Given the description of an element on the screen output the (x, y) to click on. 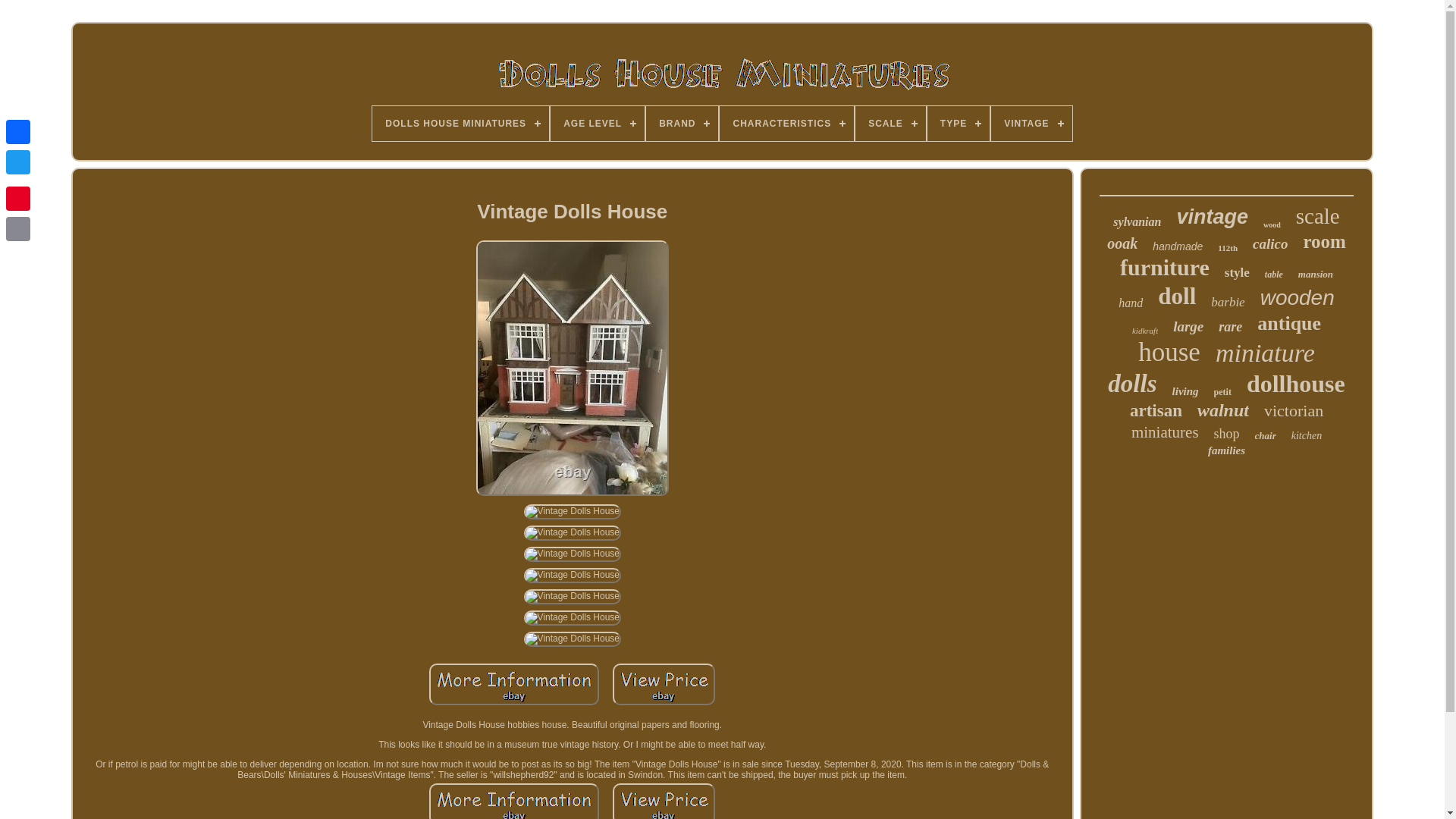
Vintage Dolls House (513, 684)
BRAND (681, 123)
DOLLS HOUSE MINIATURES (460, 123)
Vintage Dolls House (572, 511)
Vintage Dolls House (572, 575)
Vintage Dolls House (572, 617)
AGE LEVEL (597, 123)
Vintage Dolls House (513, 800)
Vintage Dolls House (572, 554)
Twitter (17, 162)
Vintage Dolls House (663, 684)
Vintage Dolls House (572, 639)
Vintage Dolls House (572, 532)
Vintage Dolls House (663, 800)
Vintage Dolls House (572, 596)
